Given the description of an element on the screen output the (x, y) to click on. 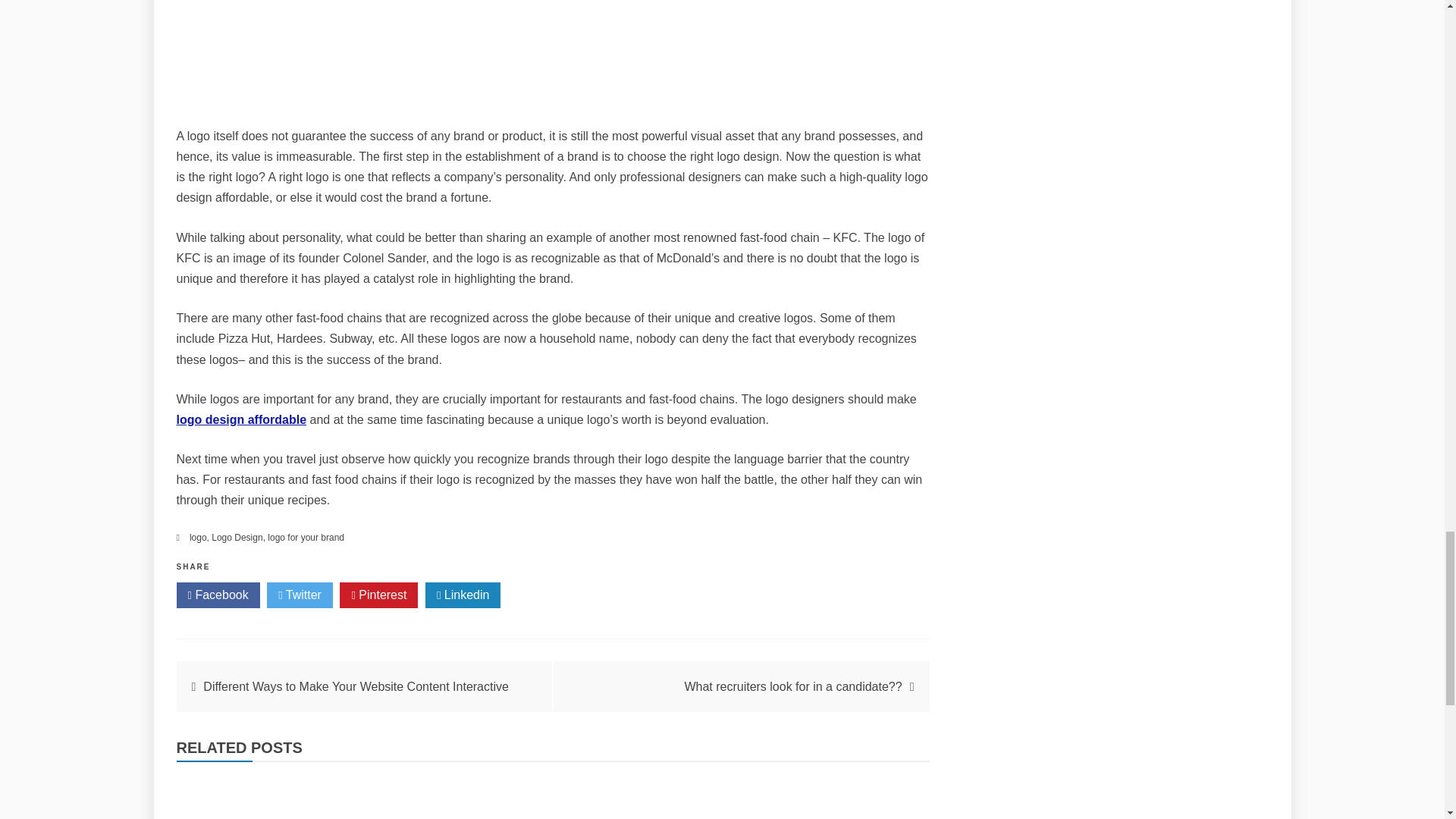
logo for your brand (305, 537)
logo design affordable (240, 419)
Pinterest (378, 595)
Facebook (217, 595)
Logo Design (236, 537)
Twitter (299, 595)
logo (197, 537)
Linkedin (462, 595)
